Given the description of an element on the screen output the (x, y) to click on. 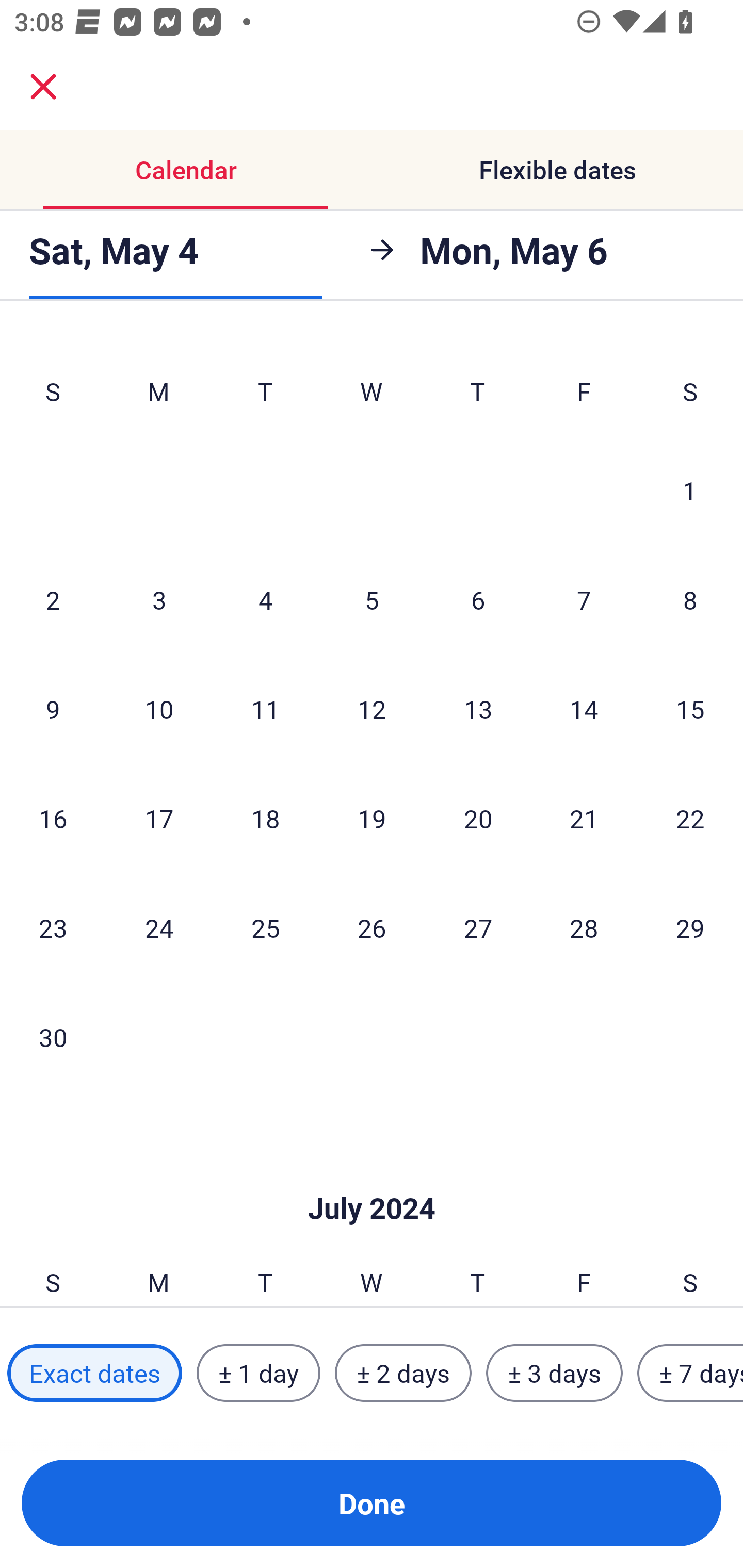
close. (43, 86)
Flexible dates (557, 170)
1 Saturday, June 1, 2024 (689, 489)
2 Sunday, June 2, 2024 (53, 599)
3 Monday, June 3, 2024 (159, 599)
4 Tuesday, June 4, 2024 (265, 599)
5 Wednesday, June 5, 2024 (371, 599)
6 Thursday, June 6, 2024 (477, 599)
7 Friday, June 7, 2024 (584, 599)
8 Saturday, June 8, 2024 (690, 599)
9 Sunday, June 9, 2024 (53, 708)
10 Monday, June 10, 2024 (159, 708)
11 Tuesday, June 11, 2024 (265, 708)
12 Wednesday, June 12, 2024 (371, 708)
13 Thursday, June 13, 2024 (477, 708)
14 Friday, June 14, 2024 (584, 708)
15 Saturday, June 15, 2024 (690, 708)
16 Sunday, June 16, 2024 (53, 818)
17 Monday, June 17, 2024 (159, 818)
18 Tuesday, June 18, 2024 (265, 818)
19 Wednesday, June 19, 2024 (371, 818)
20 Thursday, June 20, 2024 (477, 818)
21 Friday, June 21, 2024 (584, 818)
22 Saturday, June 22, 2024 (690, 818)
23 Sunday, June 23, 2024 (53, 927)
24 Monday, June 24, 2024 (159, 927)
25 Tuesday, June 25, 2024 (265, 927)
26 Wednesday, June 26, 2024 (371, 927)
27 Thursday, June 27, 2024 (477, 927)
28 Friday, June 28, 2024 (584, 927)
29 Saturday, June 29, 2024 (690, 927)
30 Sunday, June 30, 2024 (53, 1036)
Skip to Done (371, 1177)
Exact dates (94, 1372)
± 1 day (258, 1372)
± 2 days (403, 1372)
± 3 days (553, 1372)
± 7 days (690, 1372)
Done (371, 1502)
